Given the description of an element on the screen output the (x, y) to click on. 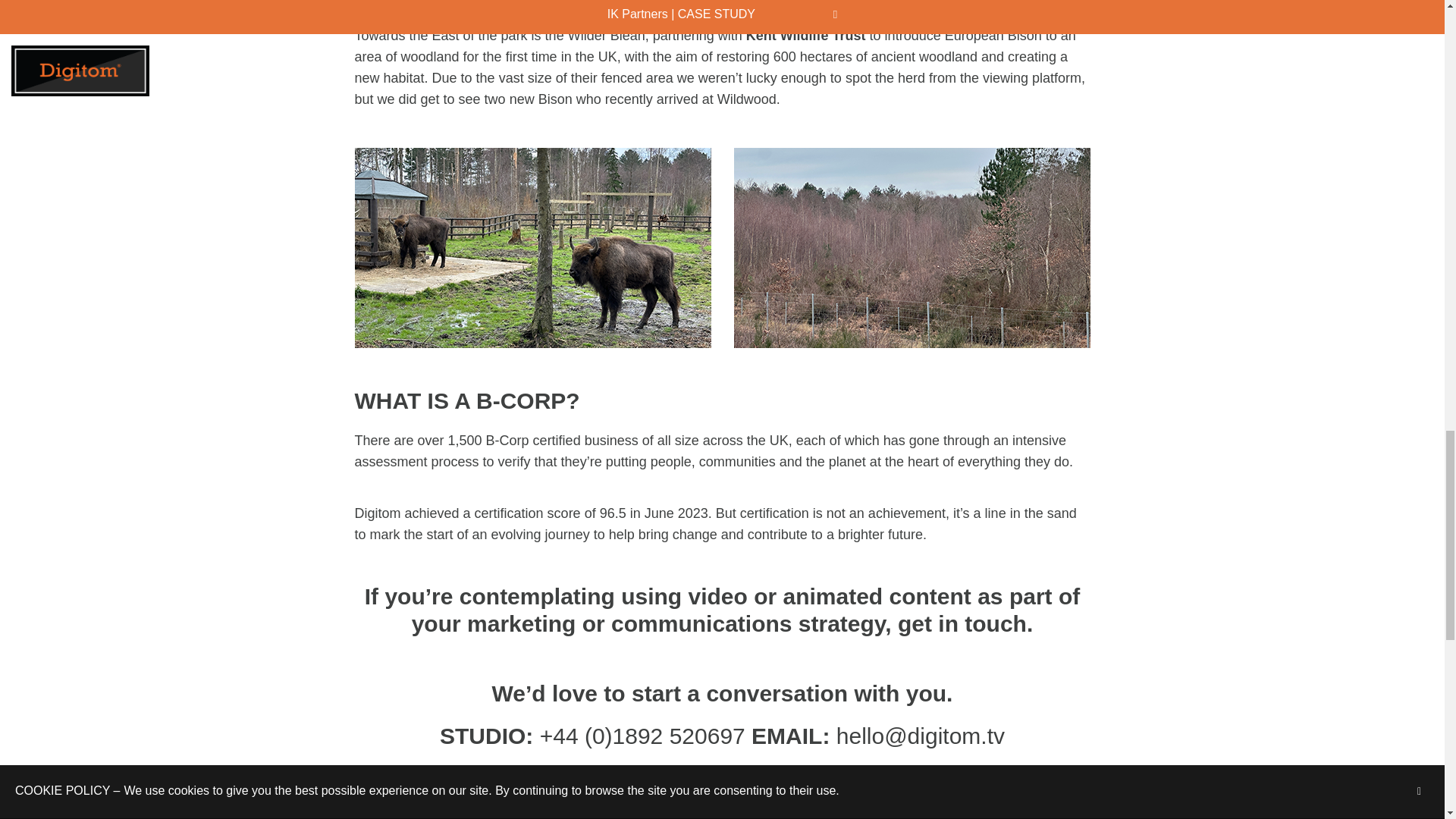
marketing or communications strategy (676, 623)
Kent Wildlife Trust (805, 35)
get in touch (962, 623)
